Given the description of an element on the screen output the (x, y) to click on. 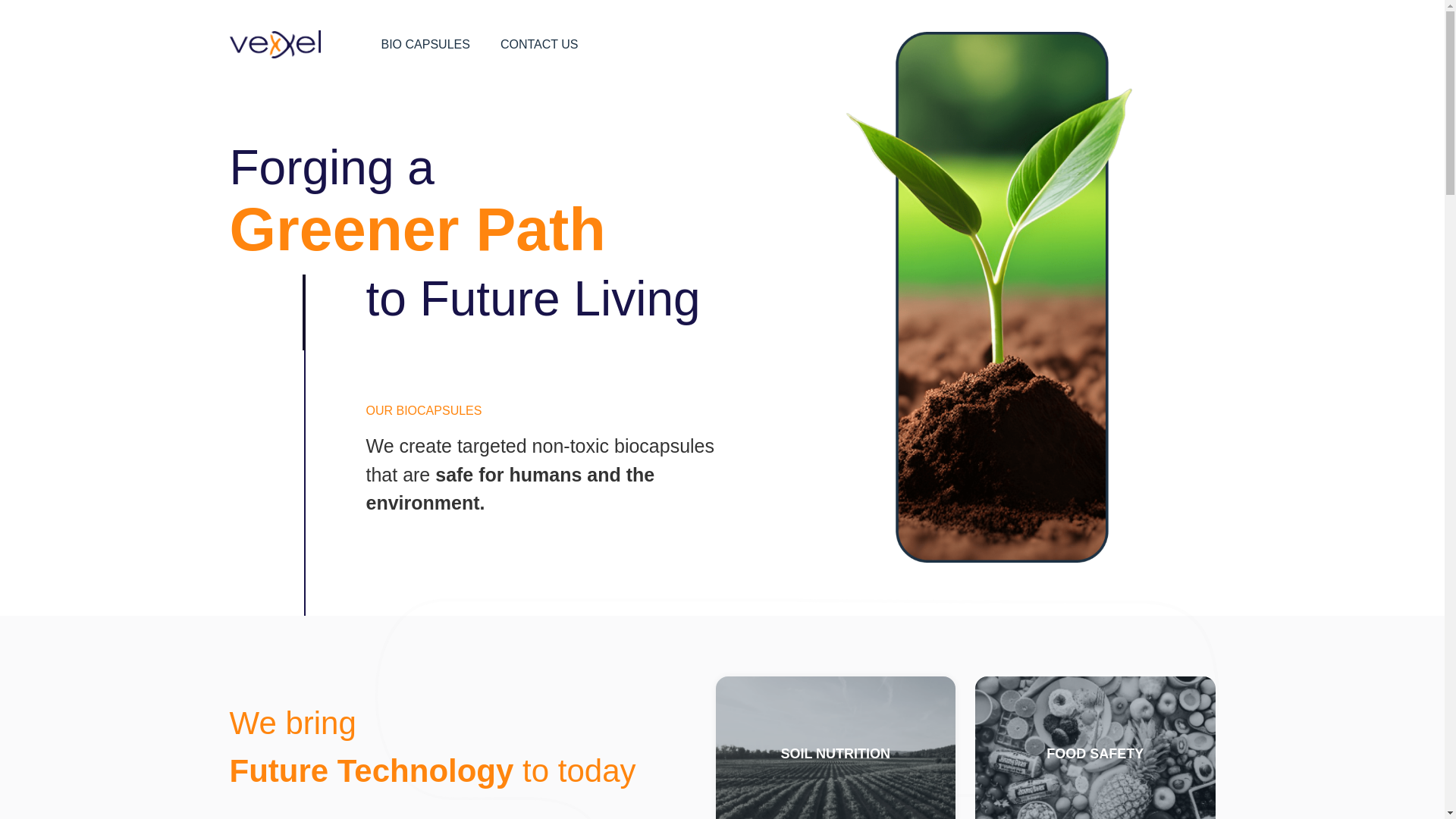
BIO CAPSULES (424, 44)
CONTACT US (539, 44)
